Given the description of an element on the screen output the (x, y) to click on. 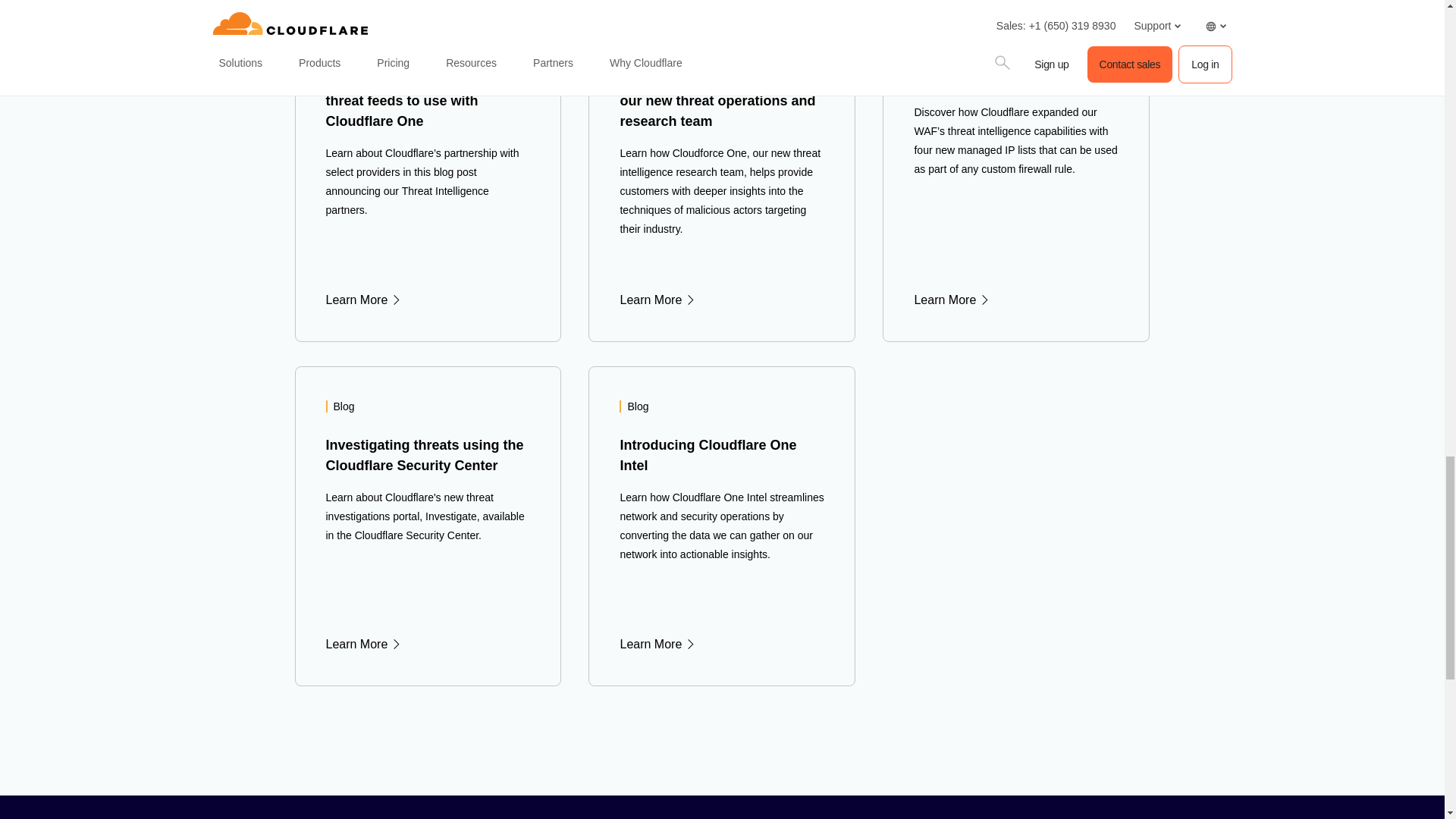
Learn More (428, 300)
Learn More (722, 300)
